Given the description of an element on the screen output the (x, y) to click on. 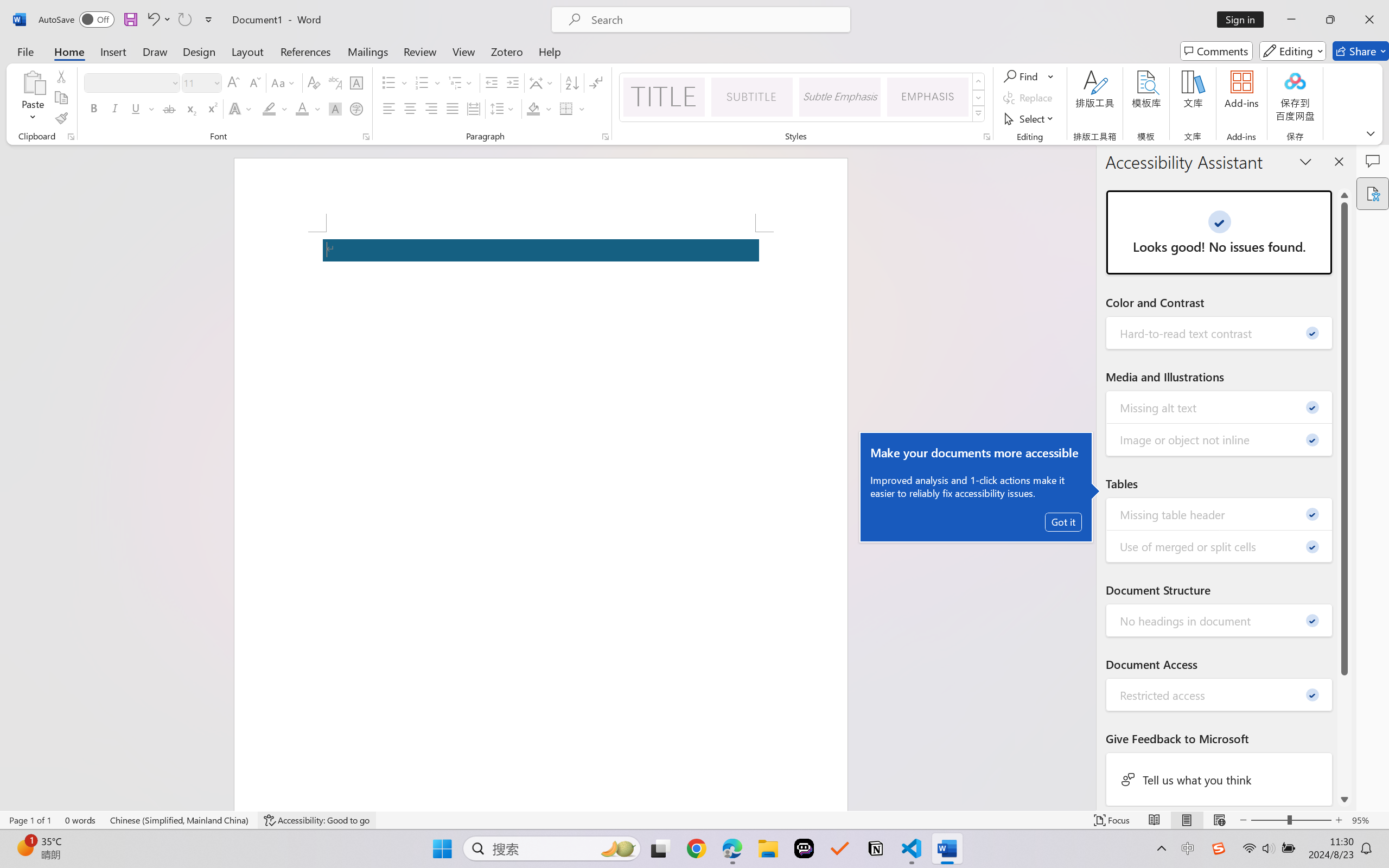
Got it (1063, 521)
Undo Apply Quick Style Set (152, 19)
